Given the description of an element on the screen output the (x, y) to click on. 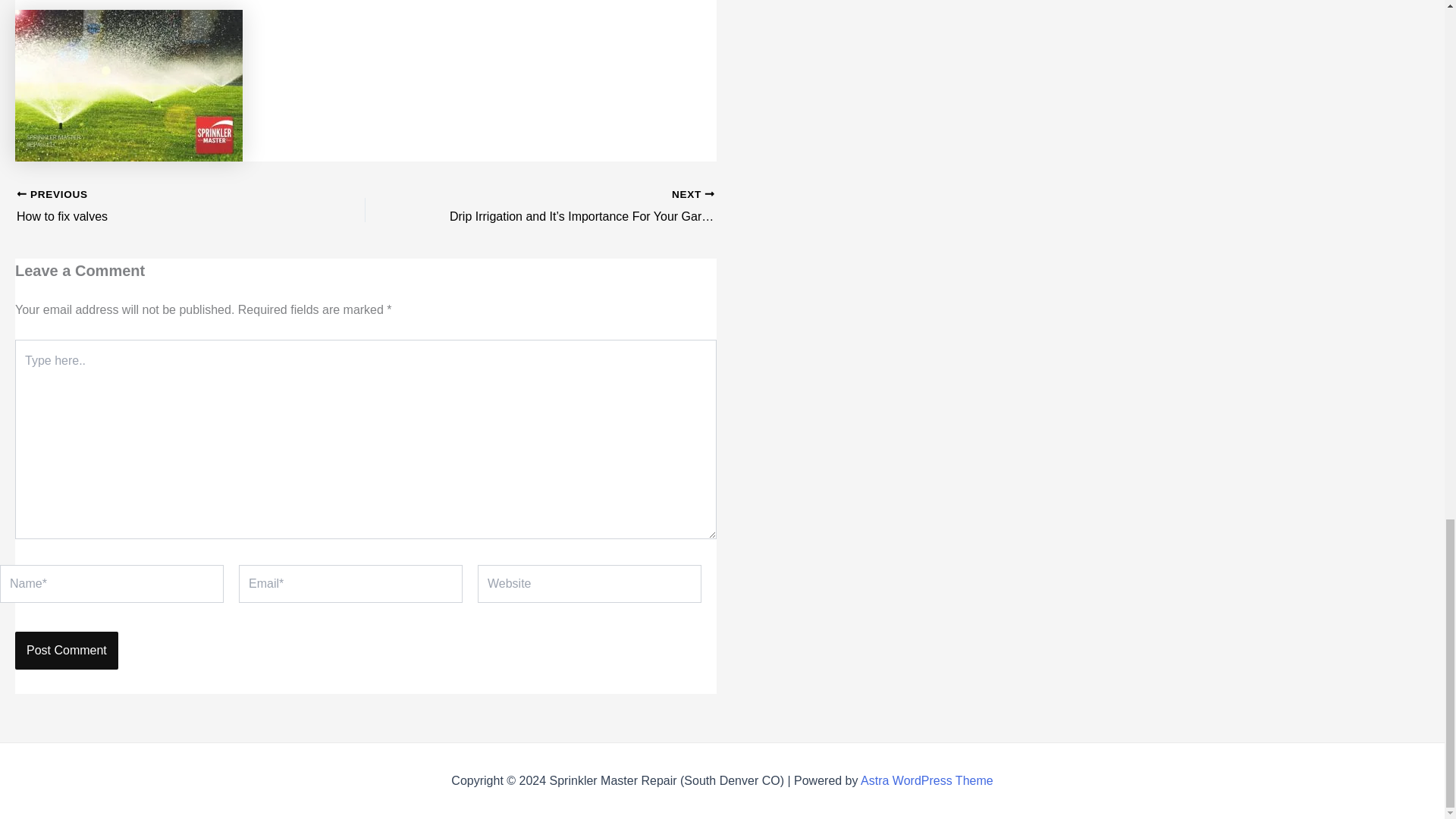
Post Comment (65, 650)
Drip Irrigation and It's Importance For Your Garden (573, 206)
How to fix valves (156, 206)
